Given the description of an element on the screen output the (x, y) to click on. 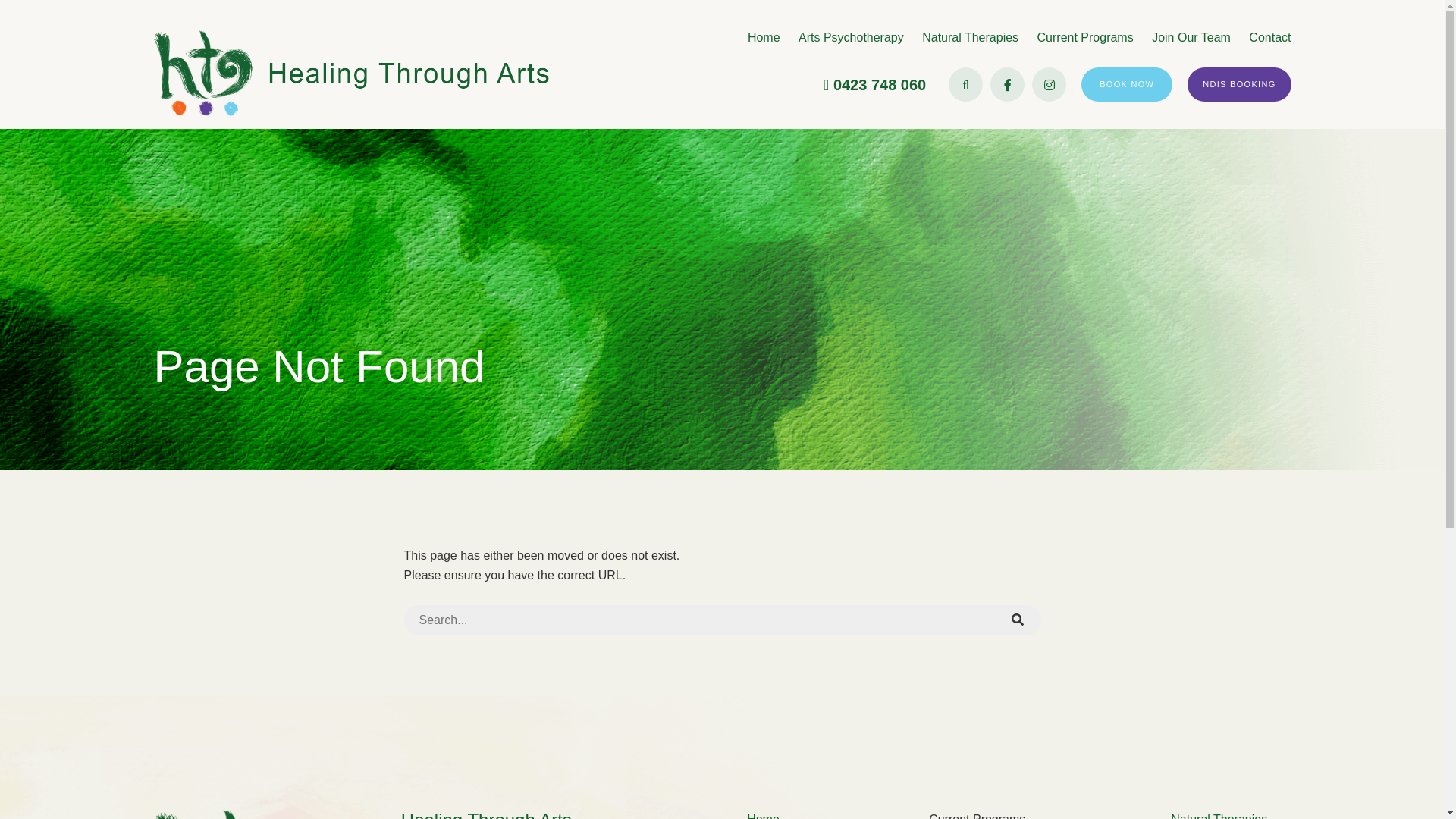
Join Our Team Element type: text (1190, 37)
NDIS BOOKING Element type: text (1238, 84)
Natural Therapies Element type: text (970, 37)
Current Programs Element type: text (1085, 37)
Home Element type: text (763, 37)
Arts Psychotherapy Element type: text (850, 37)
0423 748 060 Element type: text (879, 84)
BOOK NOW Element type: text (1126, 84)
Contact Element type: text (1269, 37)
